Given the description of an element on the screen output the (x, y) to click on. 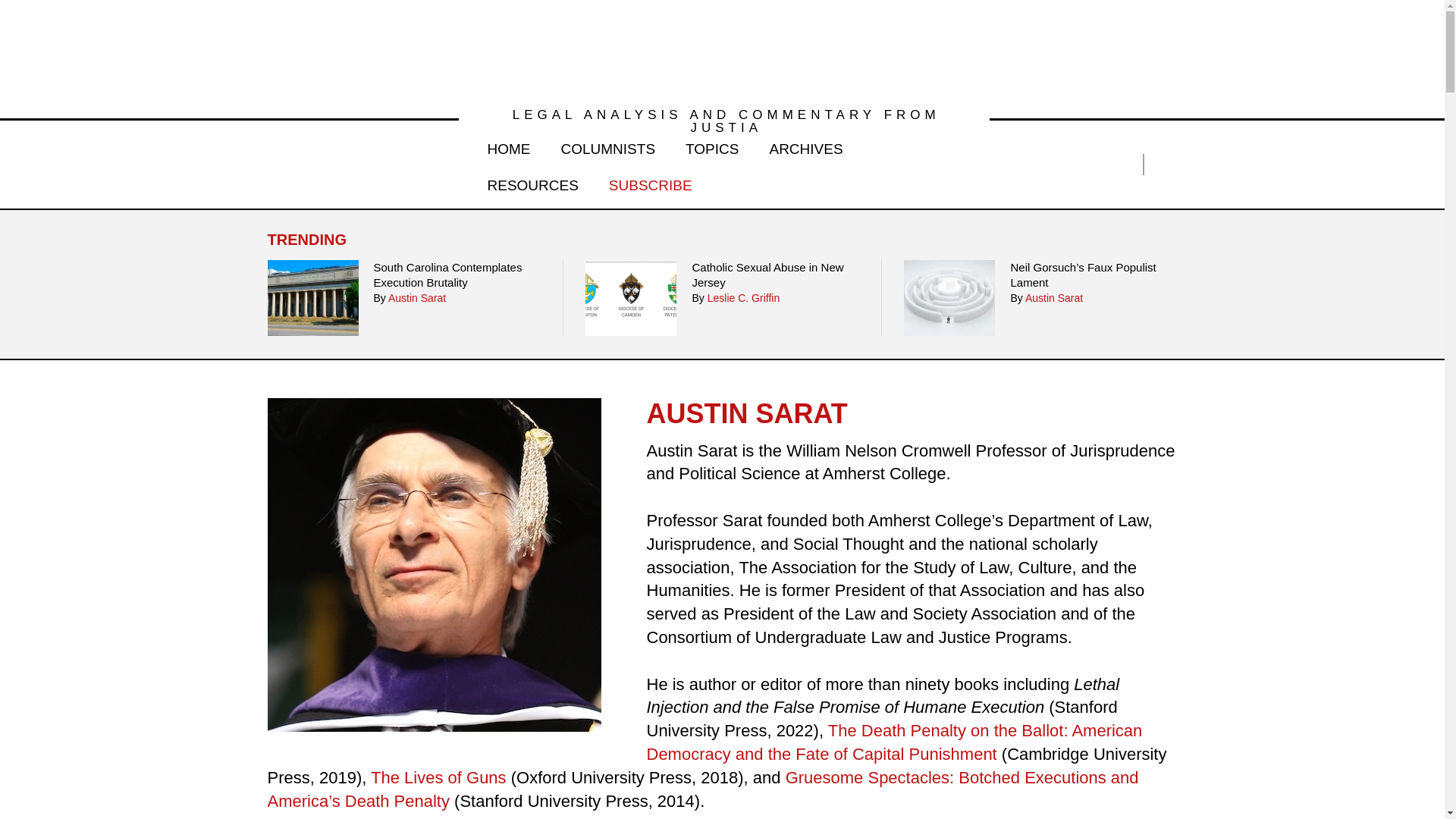
Justia (323, 163)
HOME (507, 145)
South Carolina Contemplates Execution Brutality (456, 275)
Verdict Homepage (721, 50)
South Carolina Contemplates Execution Brutality (456, 275)
Verdict (721, 50)
The Lives of Guns (438, 777)
Austin Sarat (1054, 297)
Austin Sarat (432, 565)
Catholic Sexual Abuse in New Jersey: Part II (631, 297)
